Given the description of an element on the screen output the (x, y) to click on. 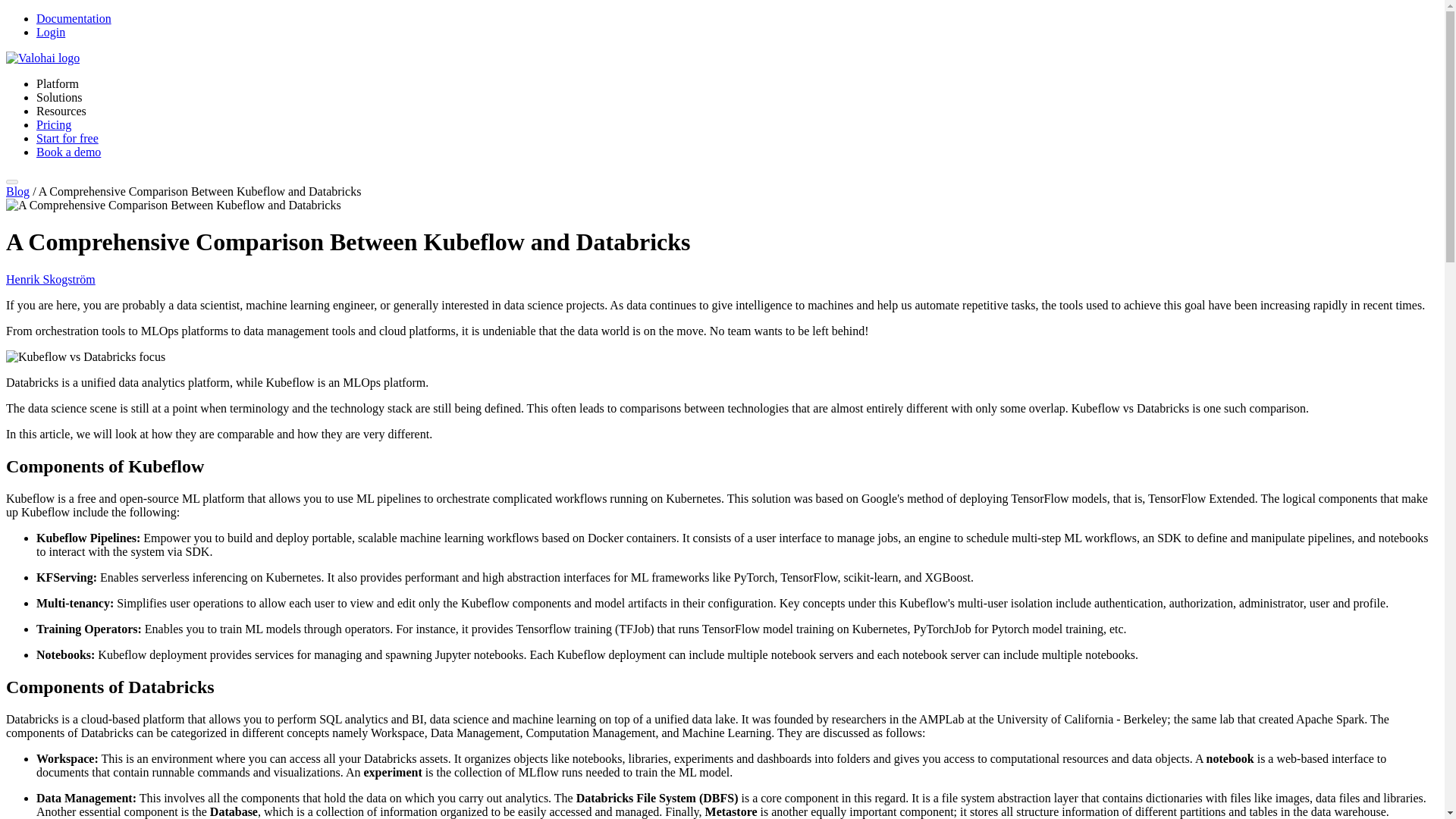
Pricing (53, 124)
Documentation (74, 18)
Start for free (67, 137)
Book a demo (68, 151)
Blog (17, 191)
Login (50, 31)
